Given the description of an element on the screen output the (x, y) to click on. 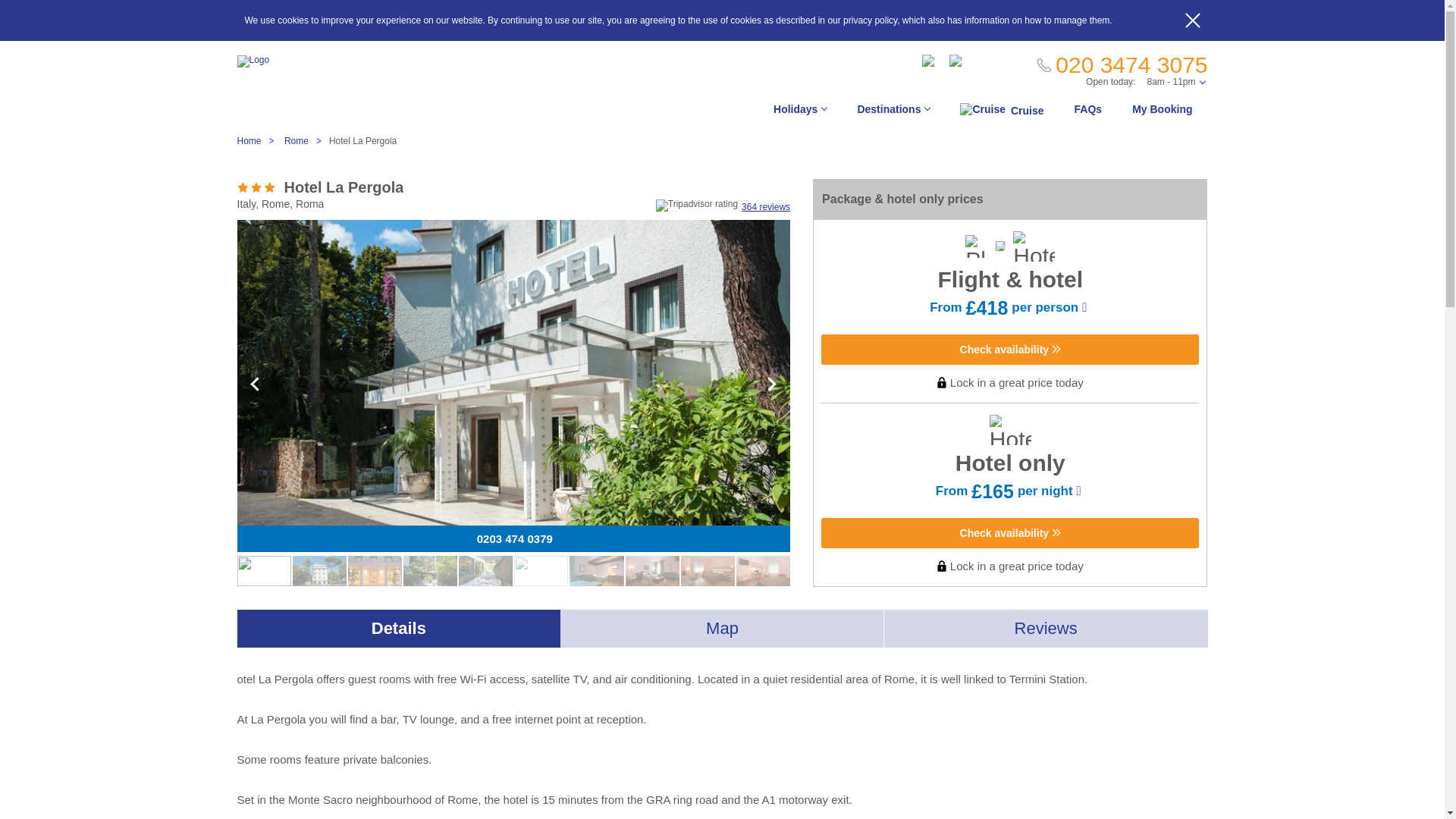
020 3474 3075 (1121, 65)
Holidays (799, 112)
Destinations (892, 112)
